Given the description of an element on the screen output the (x, y) to click on. 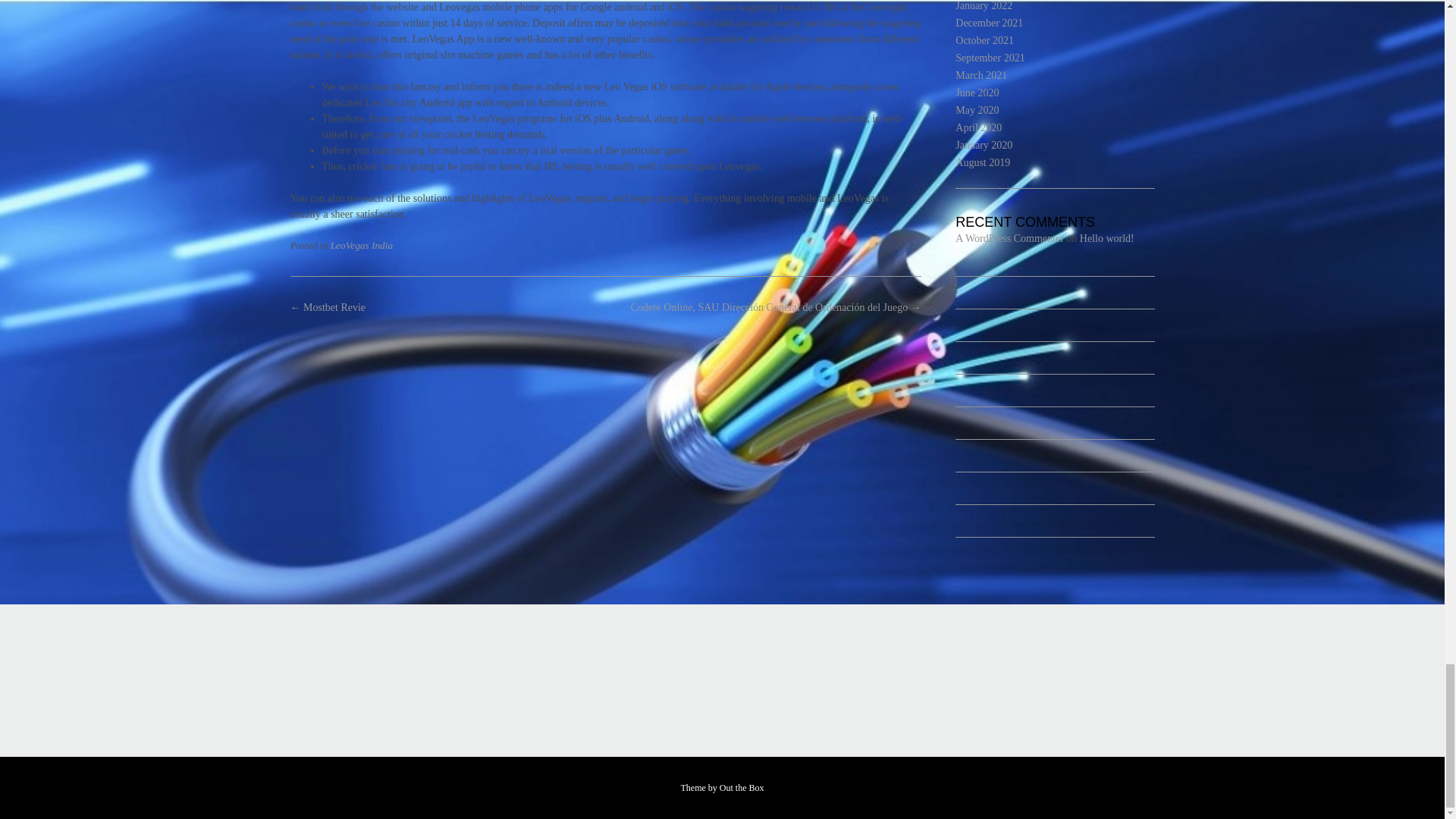
LeoVegas India (361, 244)
